Given the description of an element on the screen output the (x, y) to click on. 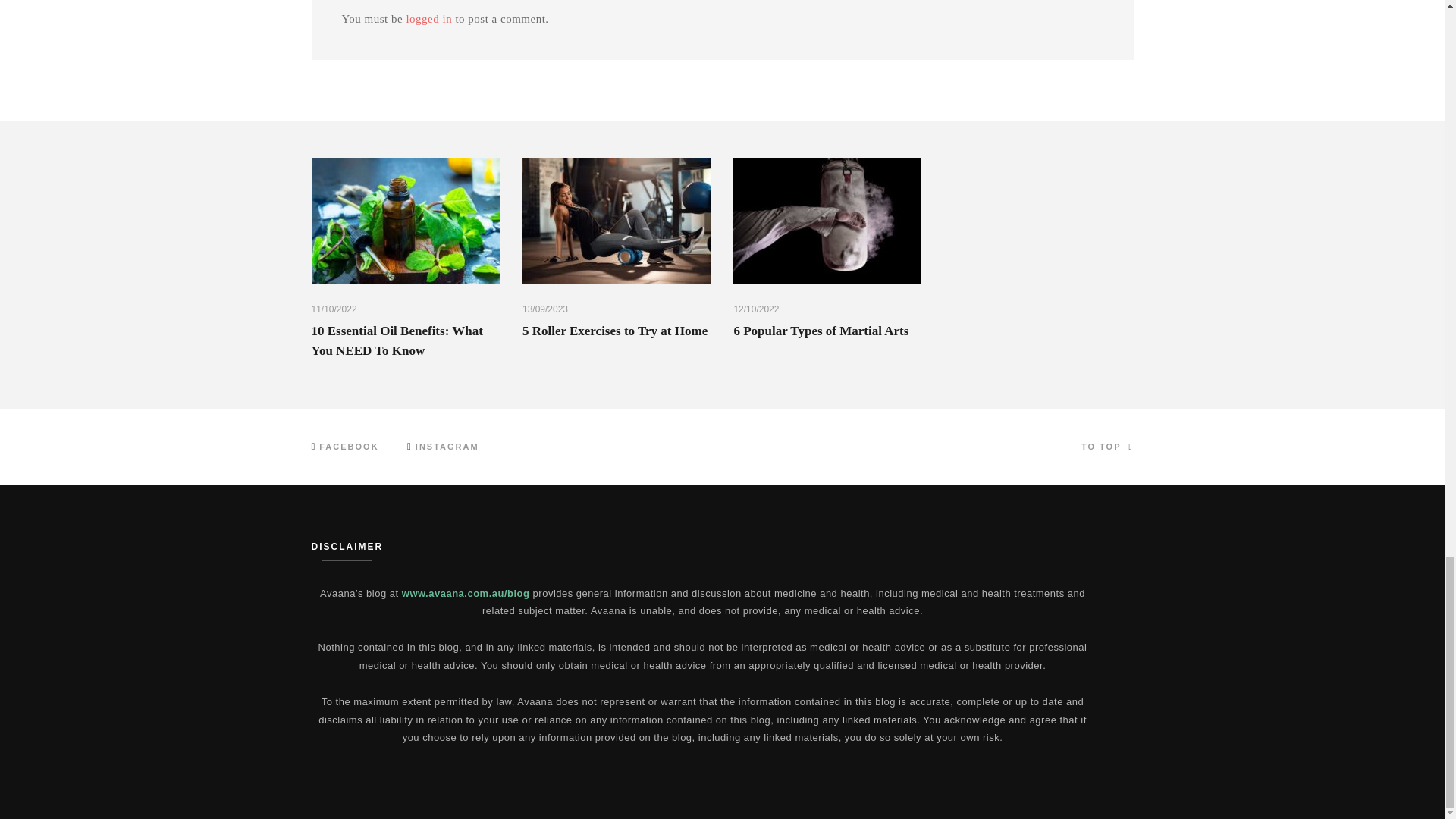
TO TOP (1107, 446)
logged in (428, 19)
10 Essential Oil Benefits: What You NEED To Know (396, 340)
5 Roller Exercises to Try at Home (614, 330)
